Given the description of an element on the screen output the (x, y) to click on. 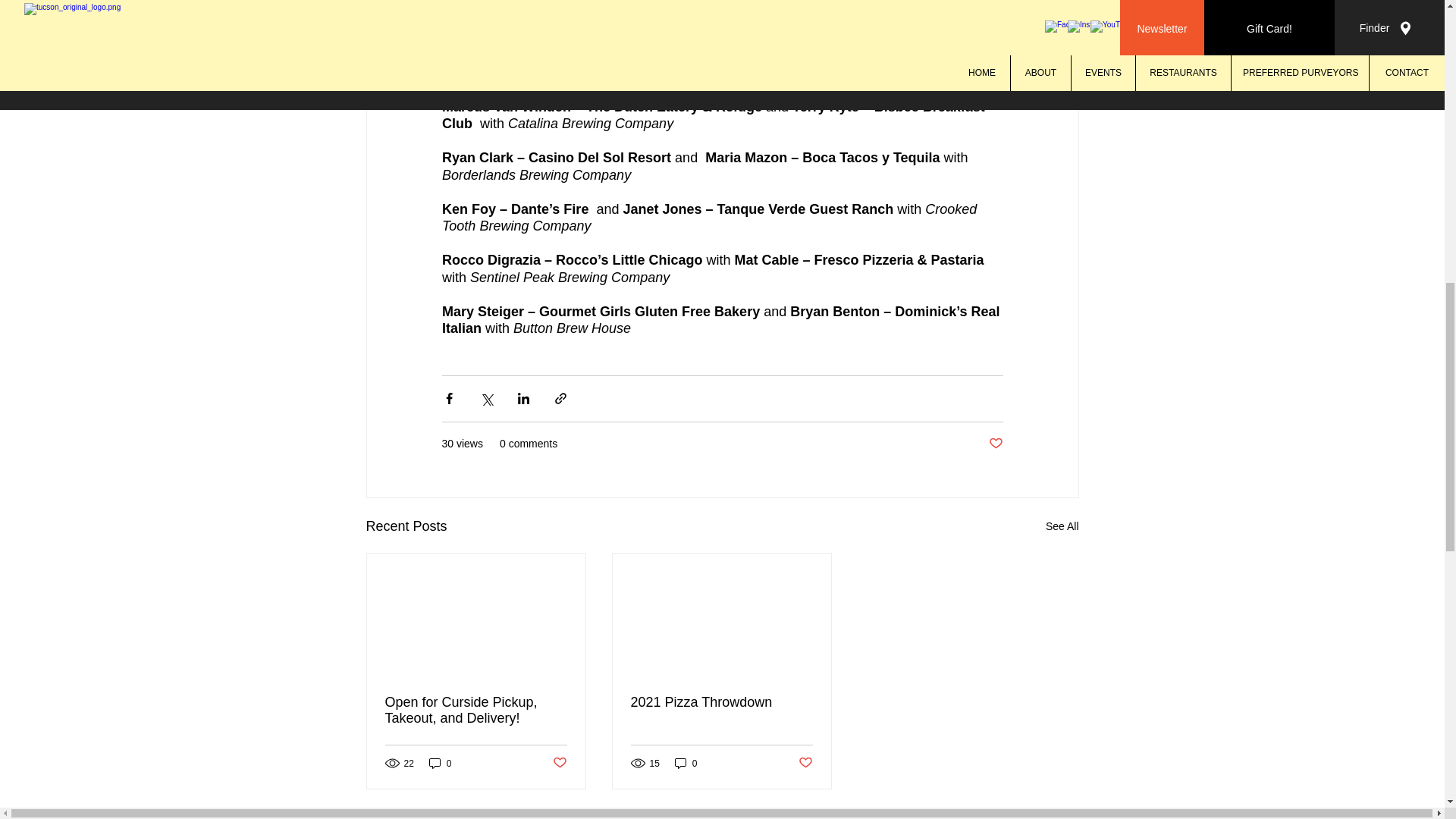
Open for Curside Pickup, Takeout, and Delivery! (476, 710)
0 (685, 762)
Post not marked as liked (804, 763)
0 (440, 762)
See All (1061, 526)
2021 Pizza Throwdown (721, 702)
Post not marked as liked (995, 443)
Post not marked as liked (558, 763)
